Given the description of an element on the screen output the (x, y) to click on. 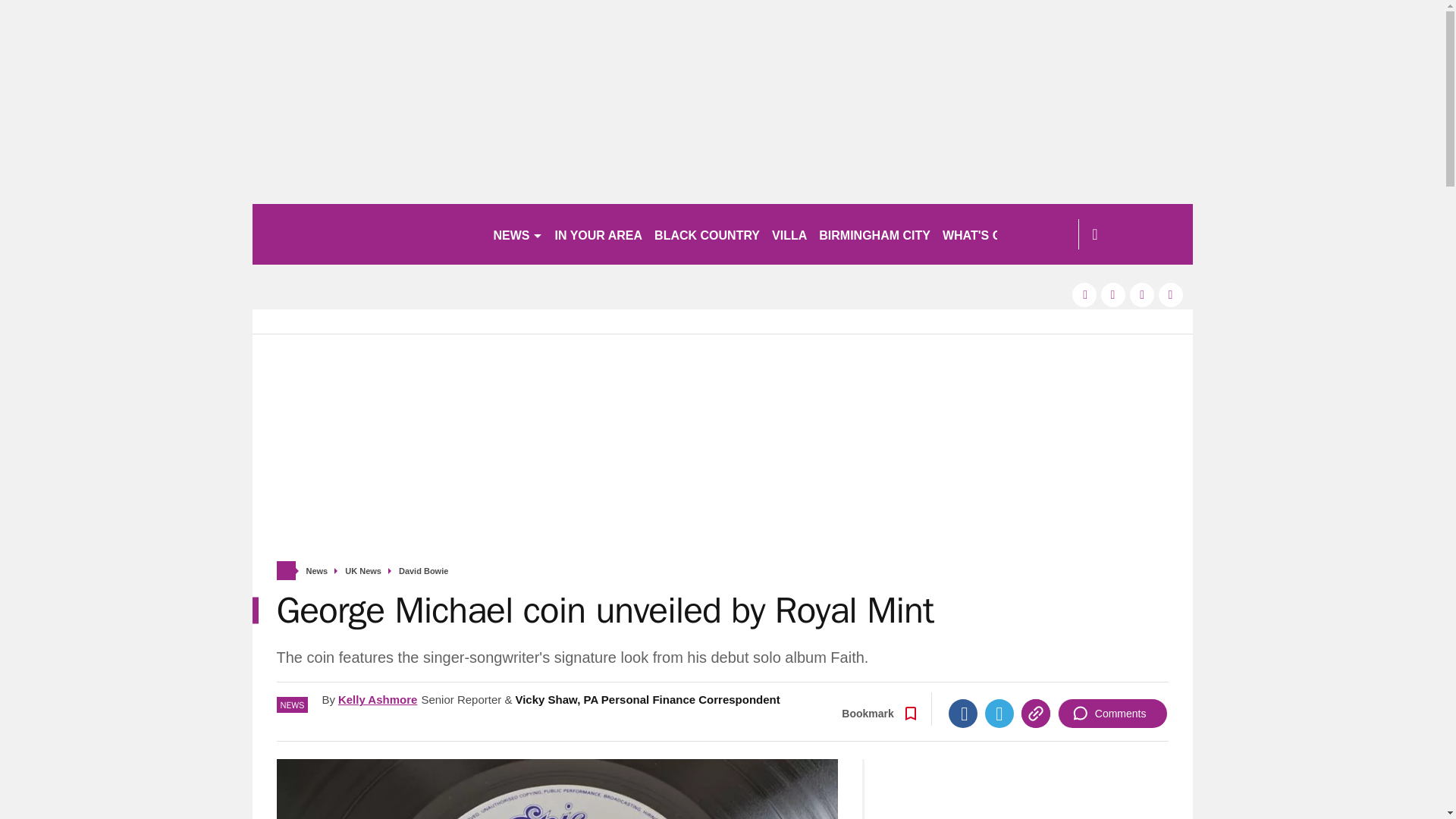
tiktok (1141, 294)
facebook (1083, 294)
Twitter (999, 713)
WHAT'S ON (982, 233)
instagram (1170, 294)
Comments (1112, 713)
birminghammail (365, 233)
NEWS (517, 233)
Facebook (962, 713)
BLACK COUNTRY (706, 233)
